Given the description of an element on the screen output the (x, y) to click on. 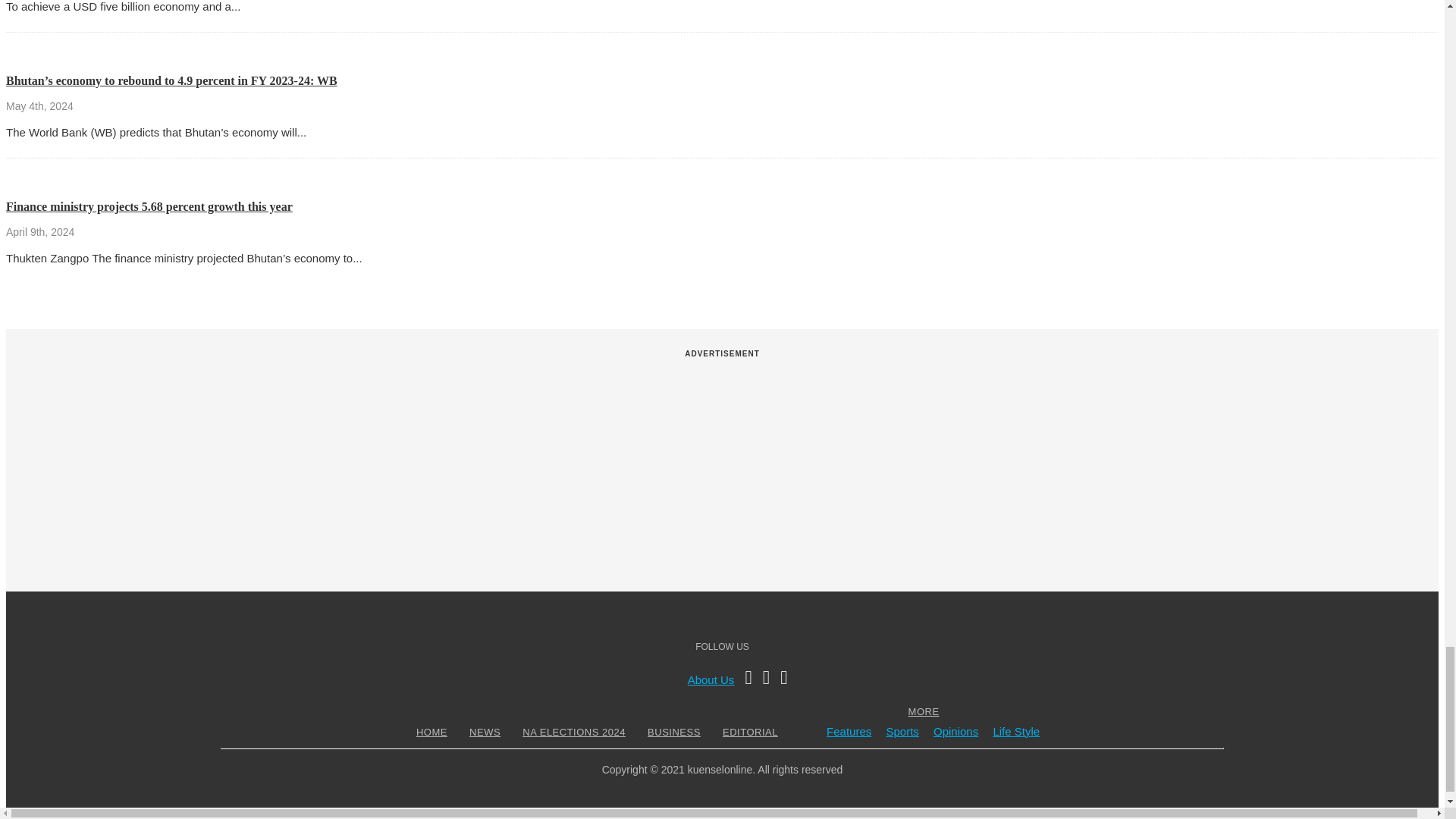
About Us (711, 679)
HOME (431, 731)
Finance ministry projects 5.68 percent growth this year (148, 205)
EDITORIAL (750, 731)
NEWS (484, 731)
BUSINESS (673, 731)
NA ELECTIONS 2024 (573, 731)
MORE (923, 711)
